Given the description of an element on the screen output the (x, y) to click on. 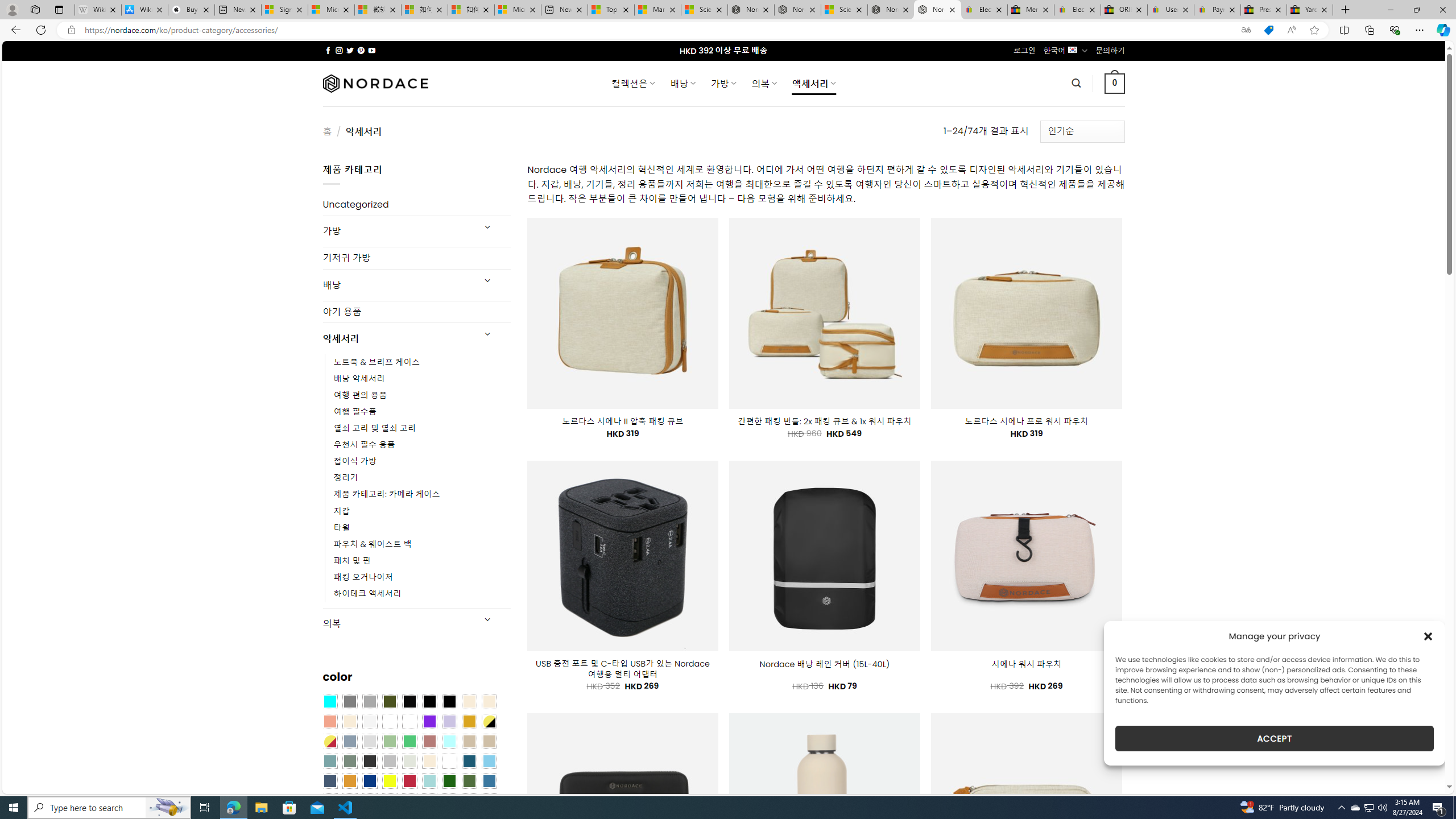
User Privacy Notice | eBay (1170, 9)
